Given the description of an element on the screen output the (x, y) to click on. 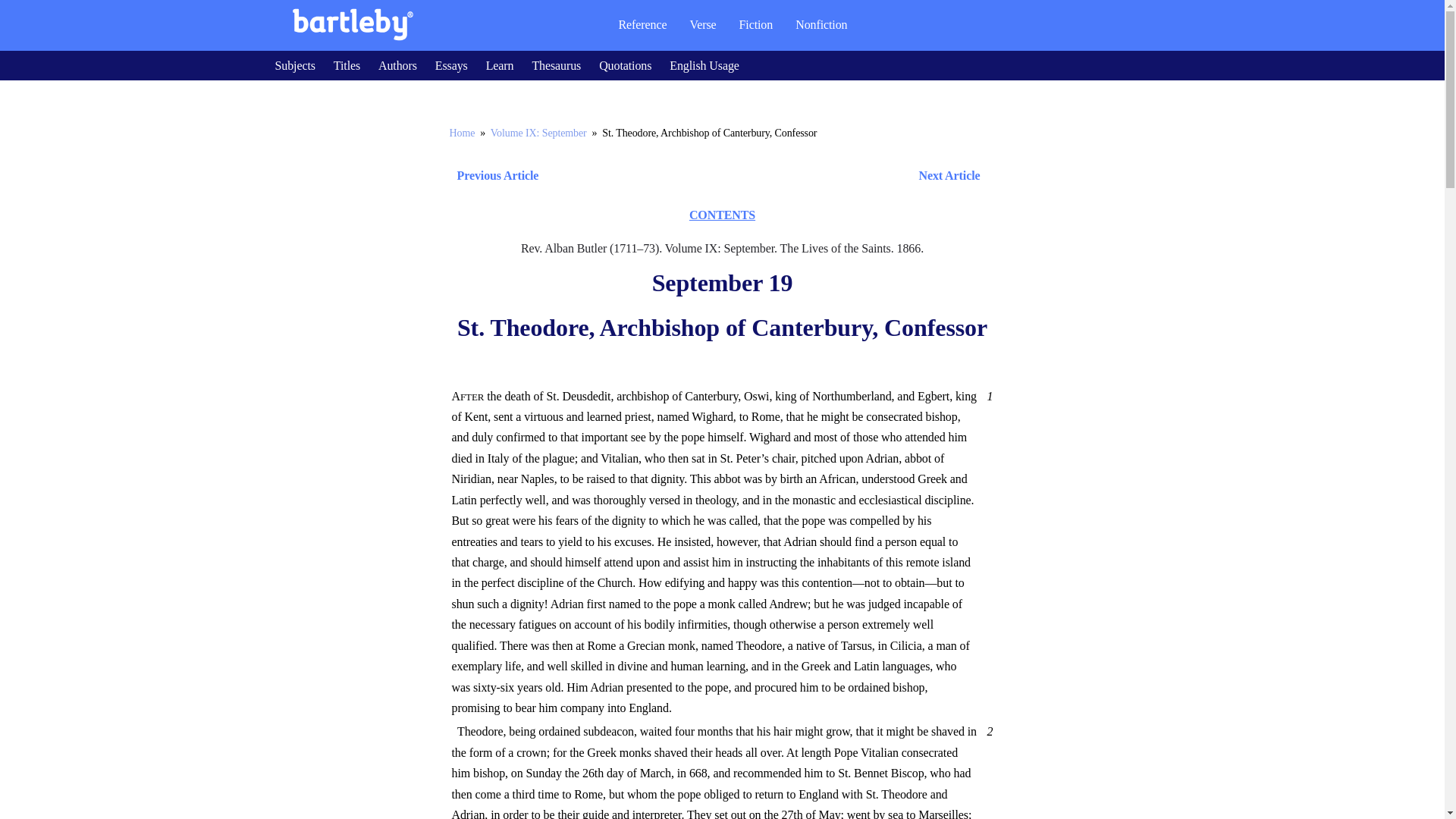
Fiction (756, 24)
Authors (397, 65)
English Usage (704, 65)
Nonfiction (821, 24)
Essays (451, 65)
Next Article (766, 175)
Home (461, 132)
CONTENTS (721, 214)
  1 (986, 395)
Titles (346, 65)
Reference (642, 24)
Quotations (624, 65)
Subjects (294, 65)
Learn (499, 65)
Volume IX: September (538, 132)
